Given the description of an element on the screen output the (x, y) to click on. 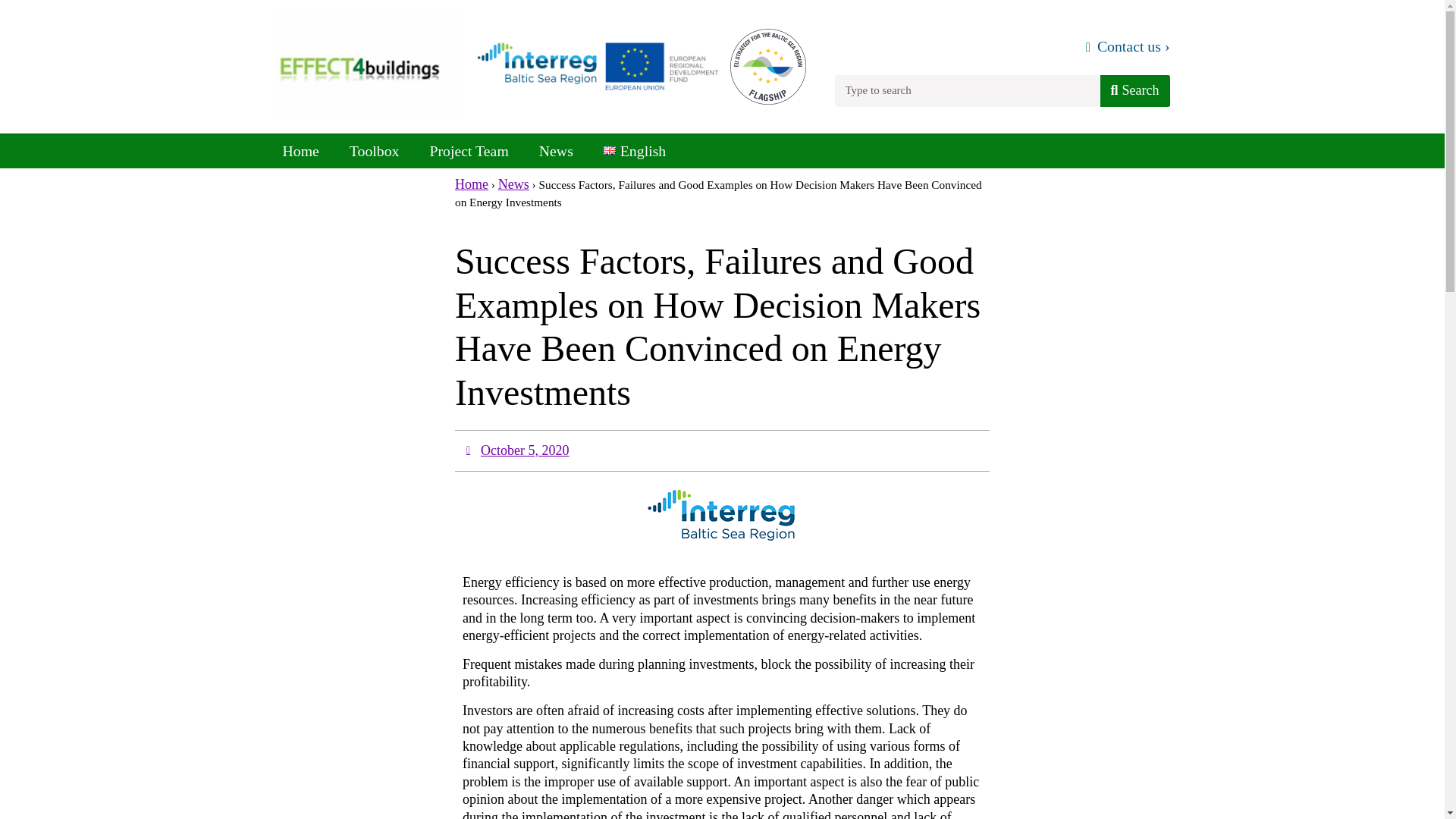
Contact us (1133, 45)
English (634, 150)
Project Team (467, 150)
Toolbox (374, 150)
Search (1134, 91)
News (556, 150)
Home (299, 150)
